Given the description of an element on the screen output the (x, y) to click on. 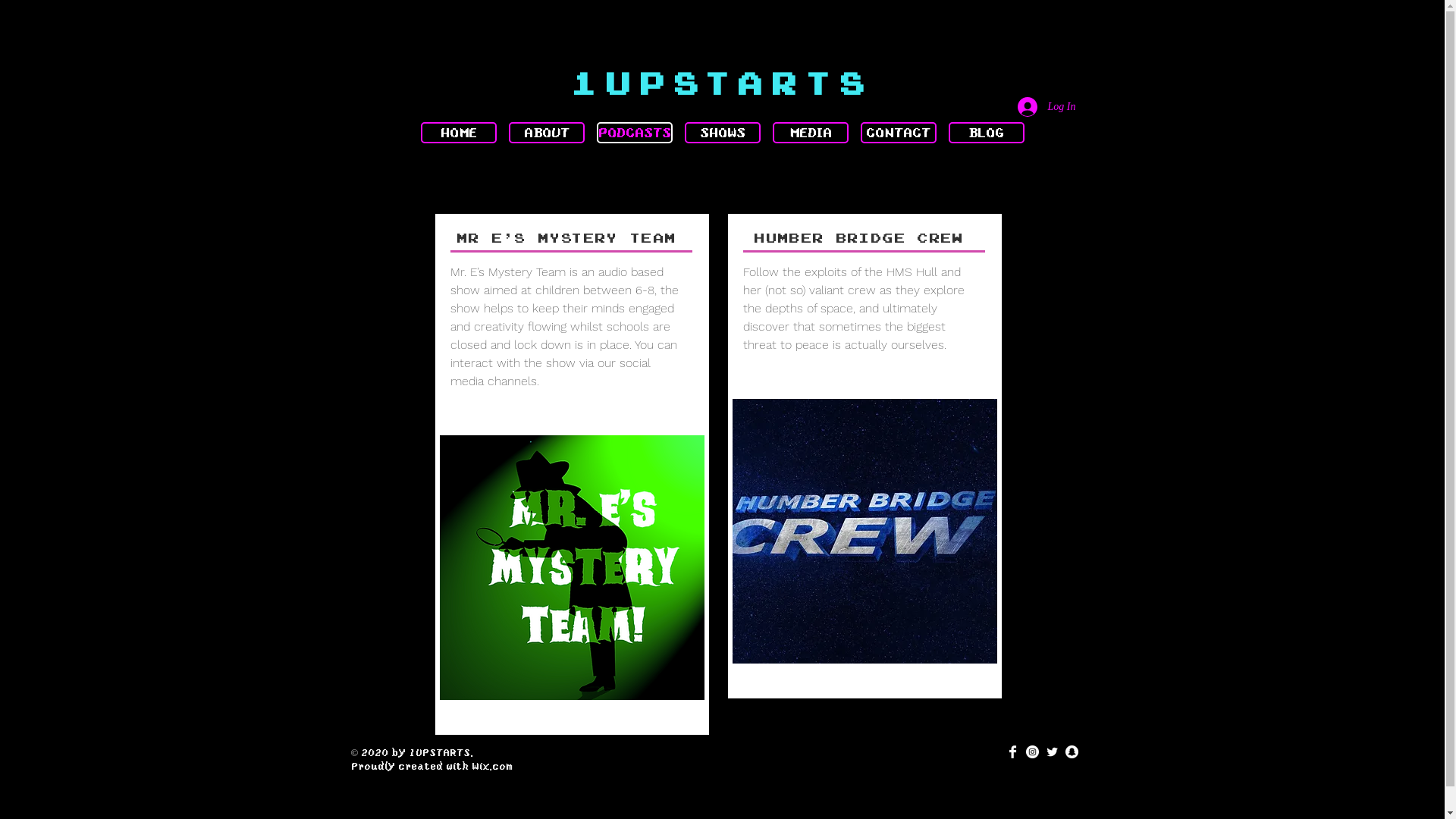
1upstarts Element type: text (721, 82)
BLOG Element type: text (985, 132)
Wix.com Element type: text (491, 766)
HOME Element type: text (457, 132)
PODCASTS Element type: text (633, 132)
ABOUT Element type: text (545, 132)
MEDIA Element type: text (809, 132)
Log In Element type: text (1046, 106)
SHOWS Element type: text (721, 132)
CONTACT Element type: text (897, 132)
